Given the description of an element on the screen output the (x, y) to click on. 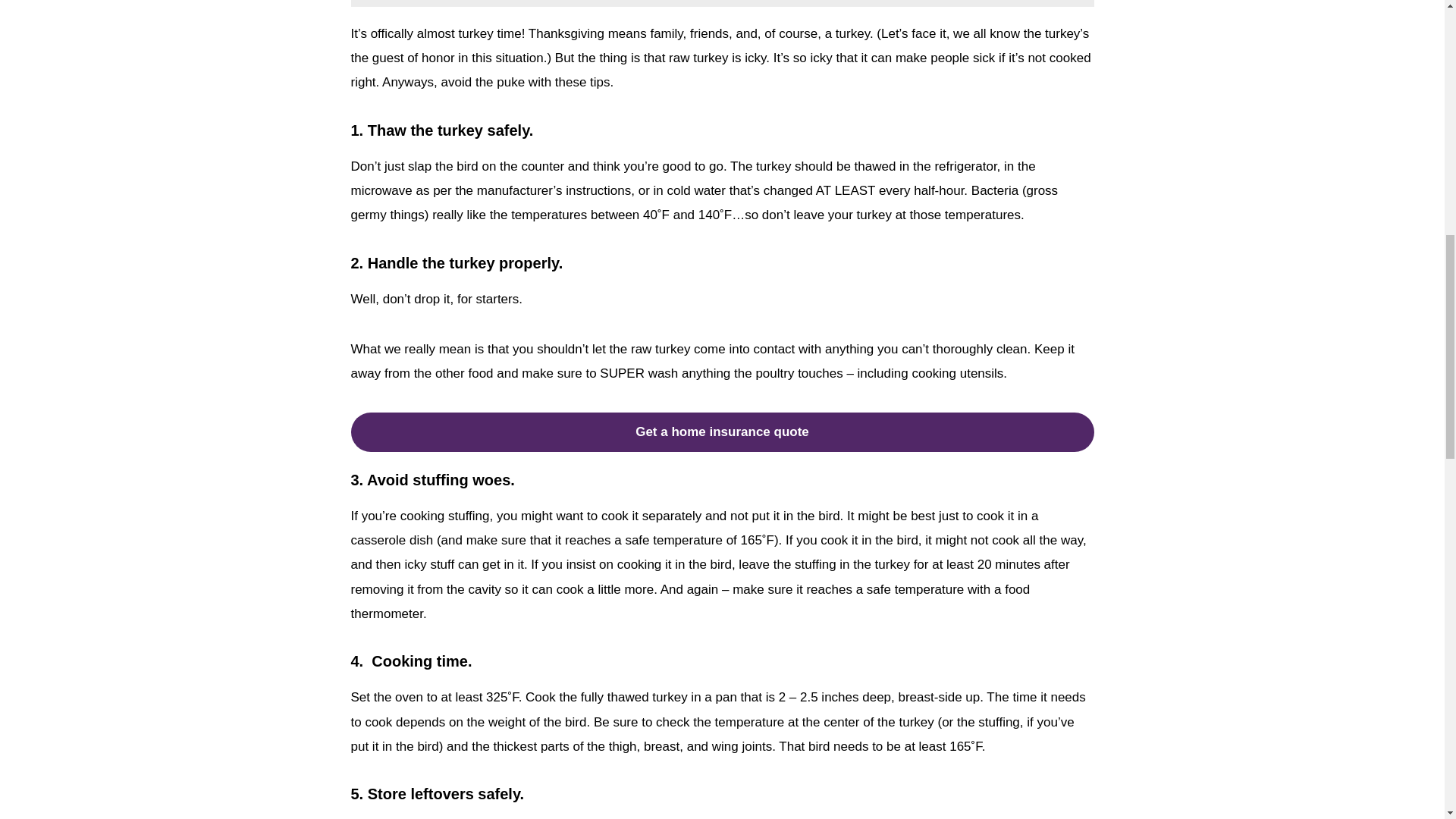
Get a home insurance quote (721, 432)
